Given the description of an element on the screen output the (x, y) to click on. 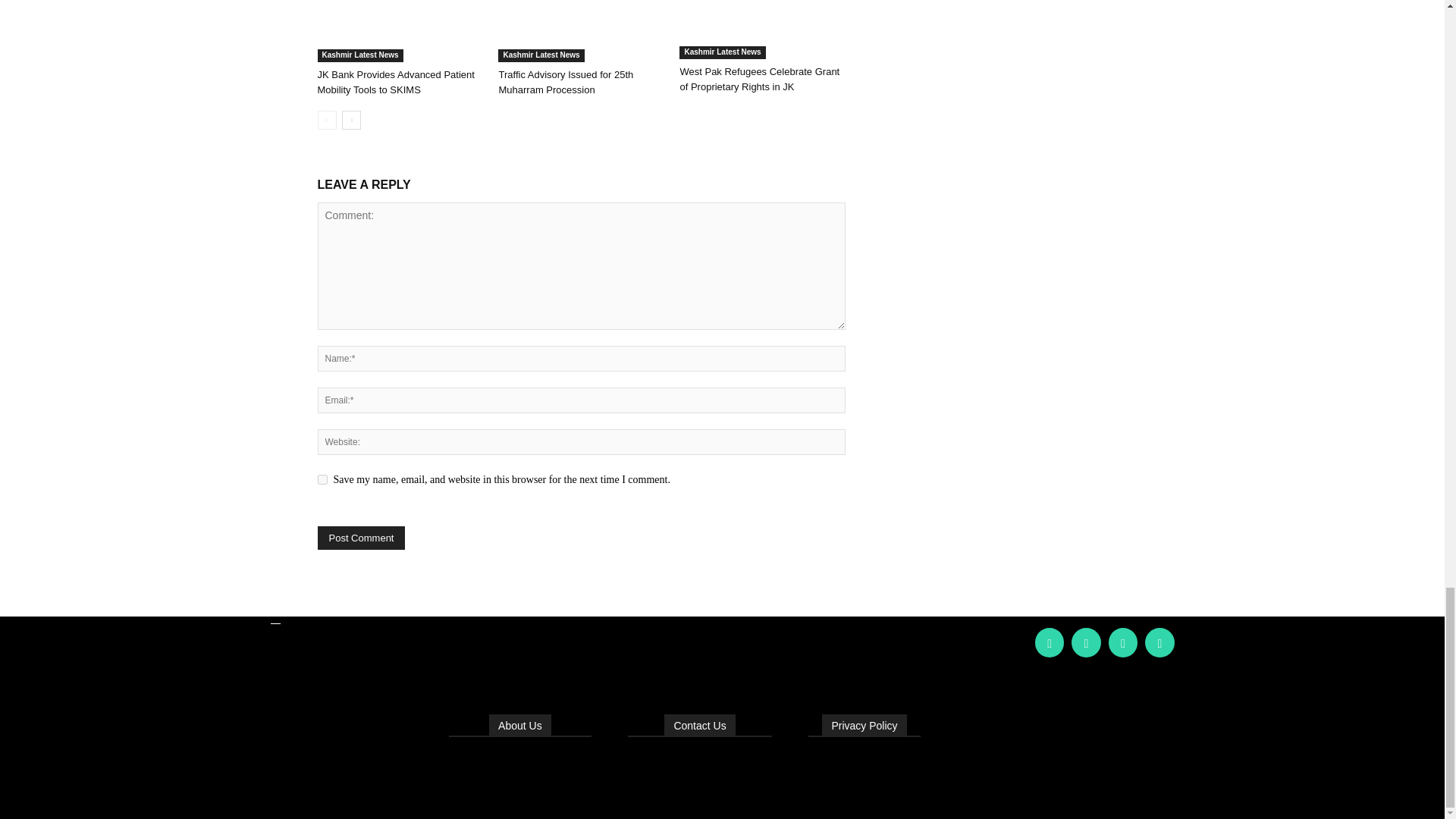
Post Comment (360, 537)
yes (321, 479)
